Given the description of an element on the screen output the (x, y) to click on. 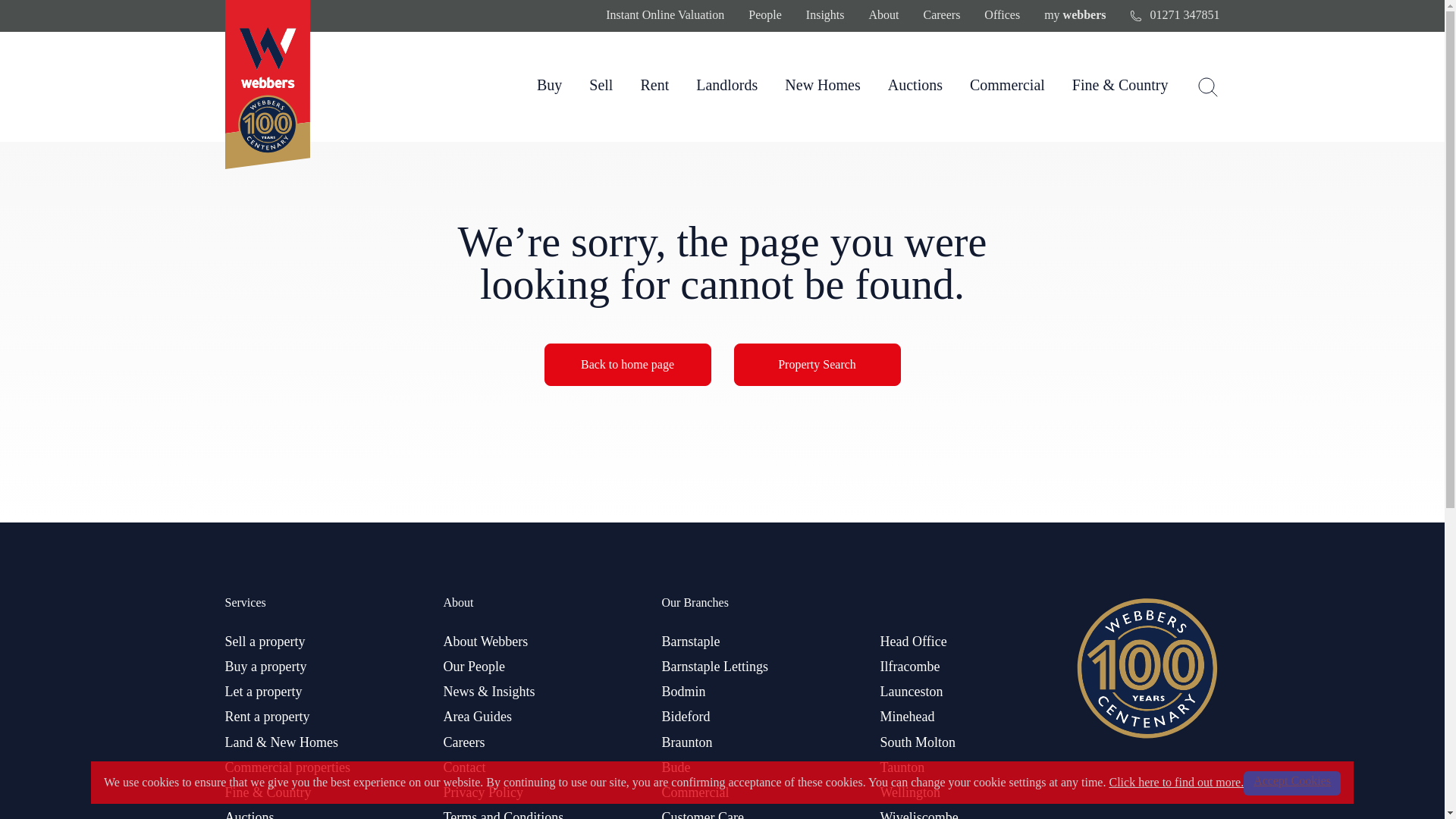
Instant Online Valuation (664, 14)
New Homes (822, 84)
Commercial (1007, 84)
Auctions (915, 84)
Sell (600, 84)
About (884, 14)
01271 347851 (1174, 14)
Rent (654, 84)
Buy (549, 84)
my webbers (1074, 14)
